Given the description of an element on the screen output the (x, y) to click on. 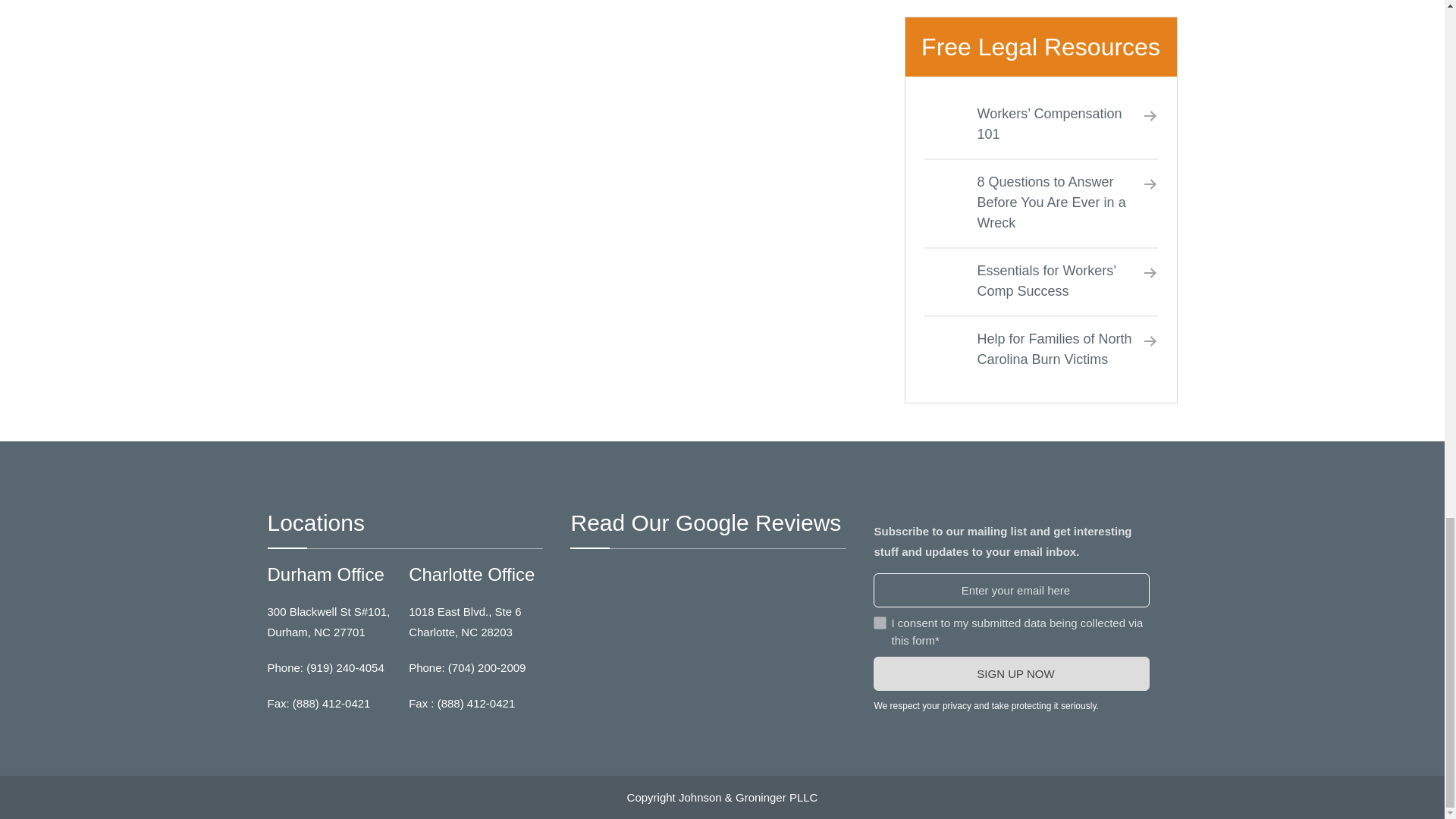
Enter your email here (1011, 590)
on (879, 622)
Sign Up Now (1011, 673)
